Given the description of an element on the screen output the (x, y) to click on. 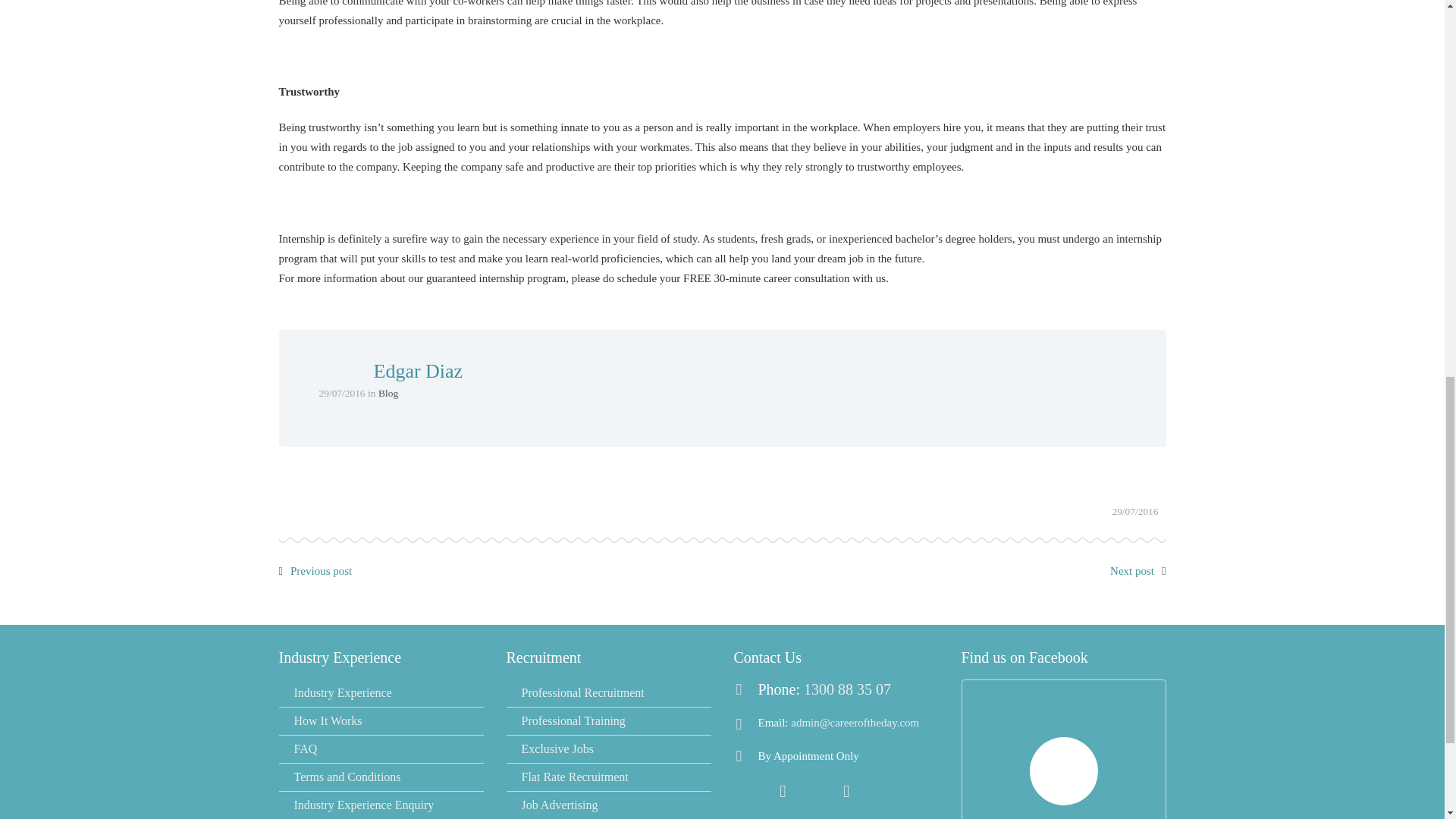
How It Works (381, 720)
Blog (387, 392)
Professional Recruitment (608, 692)
Industry Experience (381, 692)
Next post (1131, 571)
Professional Training (608, 720)
Job Advertising (608, 805)
Flat Rate Recruitment (608, 777)
Industry Experience Enquiry (381, 805)
Exclusive Jobs (608, 748)
FAQ (381, 748)
Terms and Conditions (381, 777)
Previous post (320, 571)
View all posts in Blog (387, 392)
